Given the description of an element on the screen output the (x, y) to click on. 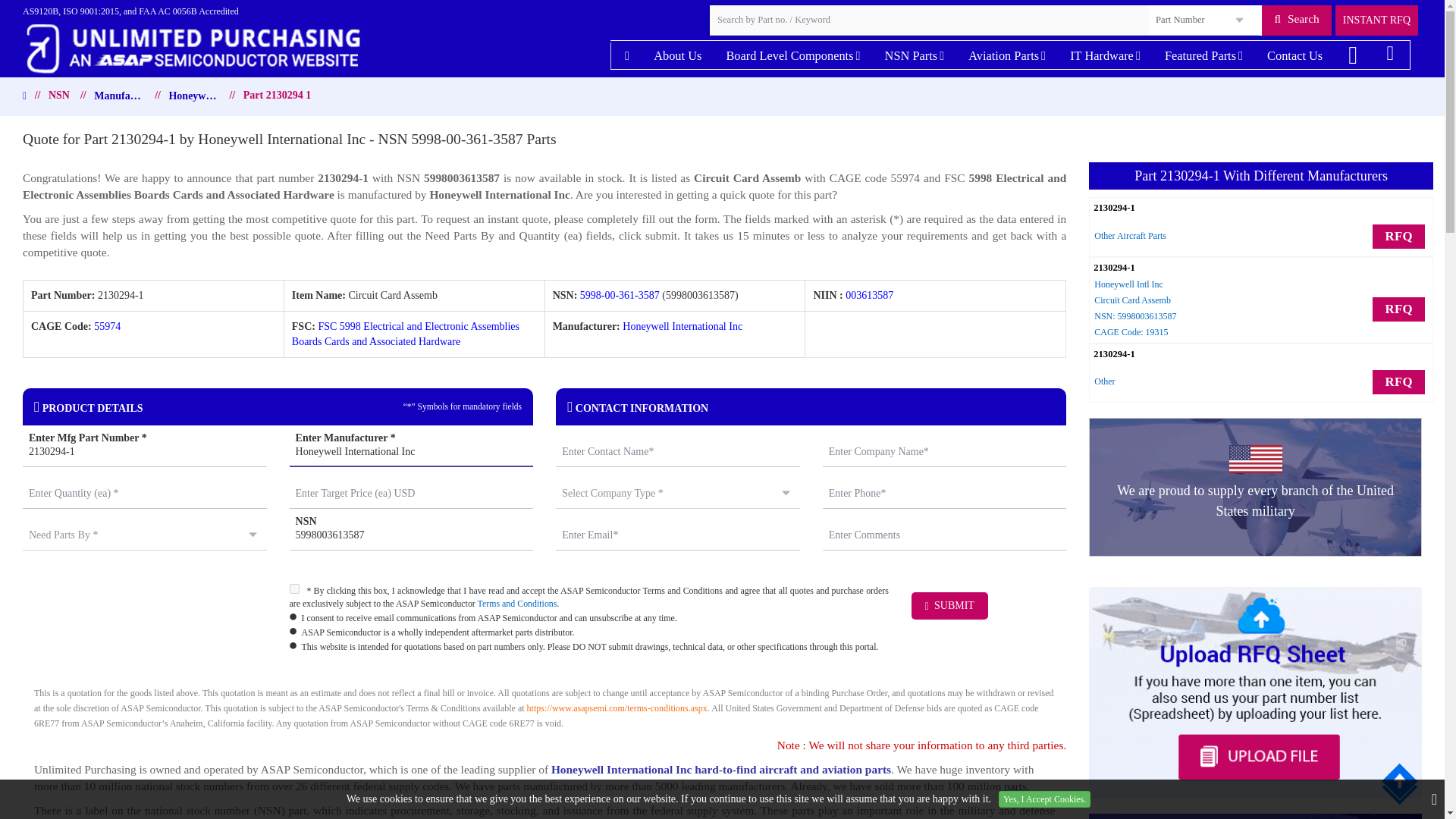
Aviation Parts (1006, 55)
2130294-1 (144, 451)
IT Hardware (1104, 55)
INSTANT RFQ (1376, 20)
on (294, 588)
Honeywell International Inc (411, 451)
About Us (677, 55)
Board Level Components (792, 55)
Featured Parts (1203, 55)
5998003613587 (411, 535)
NSN Parts (914, 55)
